Given the description of an element on the screen output the (x, y) to click on. 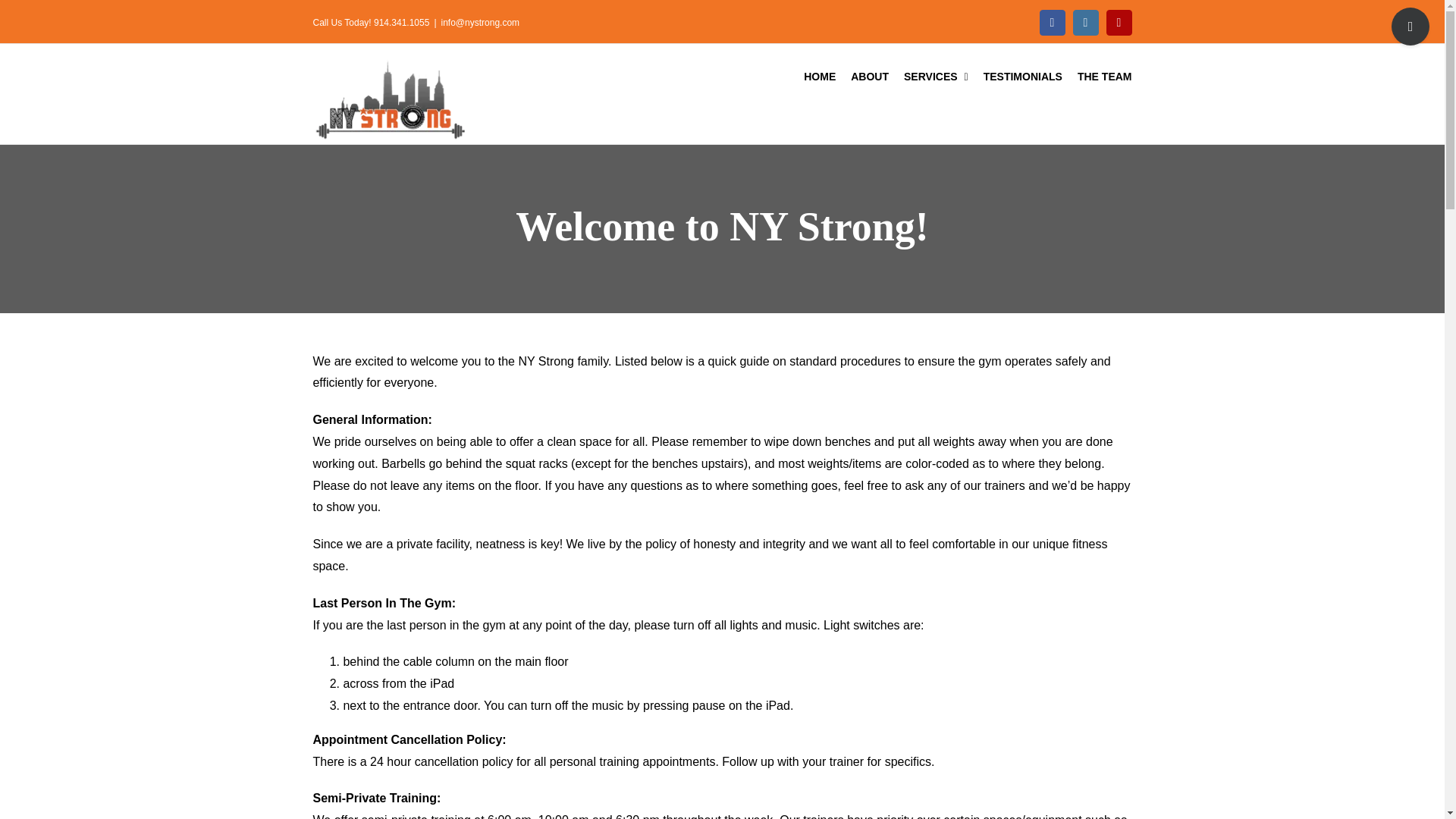
Facebook (1052, 22)
Instagram (1086, 22)
Facebook (1052, 22)
SERVICES (936, 76)
Instagram (1086, 22)
TESTIMONIALS (1023, 76)
Yelp (1119, 22)
Yelp (1119, 22)
